Given the description of an element on the screen output the (x, y) to click on. 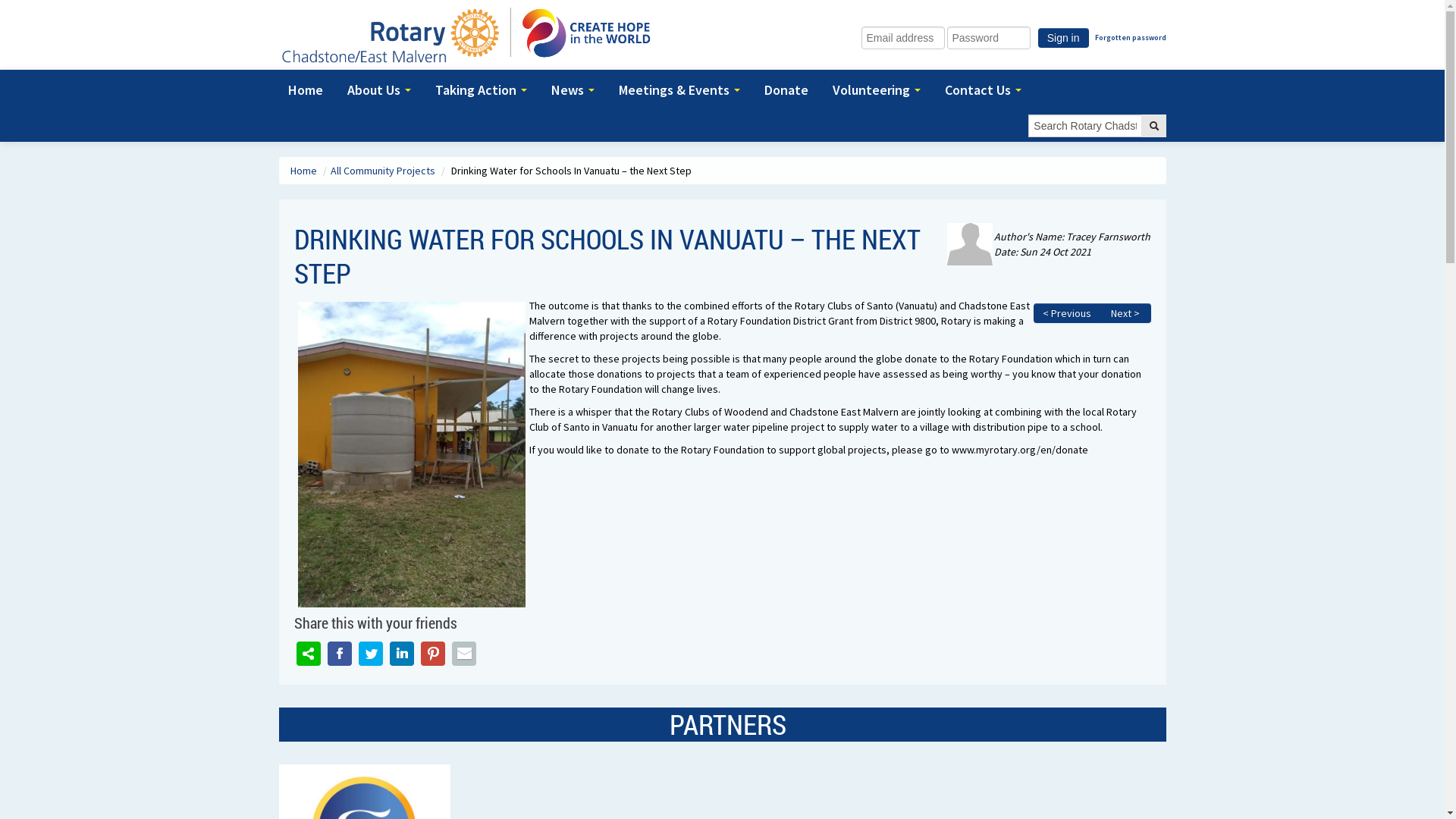
Home Element type: text (308, 89)
Forgotten password Element type: text (1130, 37)
Home Element type: text (303, 170)
News Element type: text (574, 89)
Sign in Element type: text (1063, 37)
All Community Projects Element type: text (383, 170)
Meetings & Events Element type: text (682, 89)
About Us Element type: text (382, 89)
Contact Us Element type: text (985, 89)
PARTNERS Element type: text (727, 724)
Next > Element type: text (1125, 313)
Taking Action Element type: text (484, 89)
Donate Element type: text (789, 89)
< Previous Element type: text (1065, 313)
Volunteering Element type: text (879, 89)
